Given the description of an element on the screen output the (x, y) to click on. 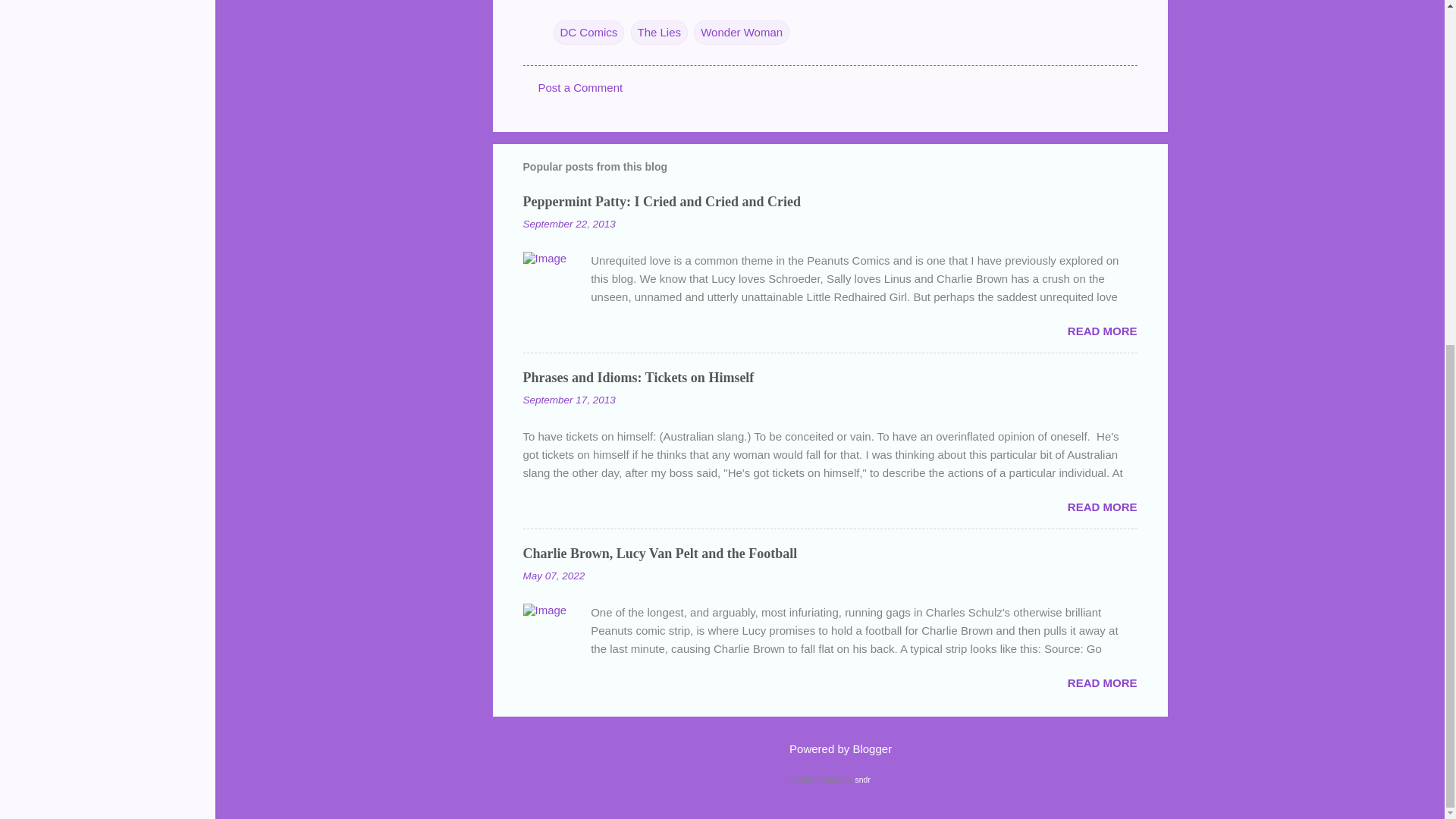
September 22, 2013 (568, 224)
DC Comics (588, 31)
Phrases and Idioms: Tickets on Himself (638, 377)
READ MORE (1102, 506)
Wonder Woman (741, 31)
September 17, 2013 (568, 399)
May 07, 2022 (553, 575)
permanent link (568, 224)
The Lies (659, 31)
READ MORE (1102, 330)
